Given the description of an element on the screen output the (x, y) to click on. 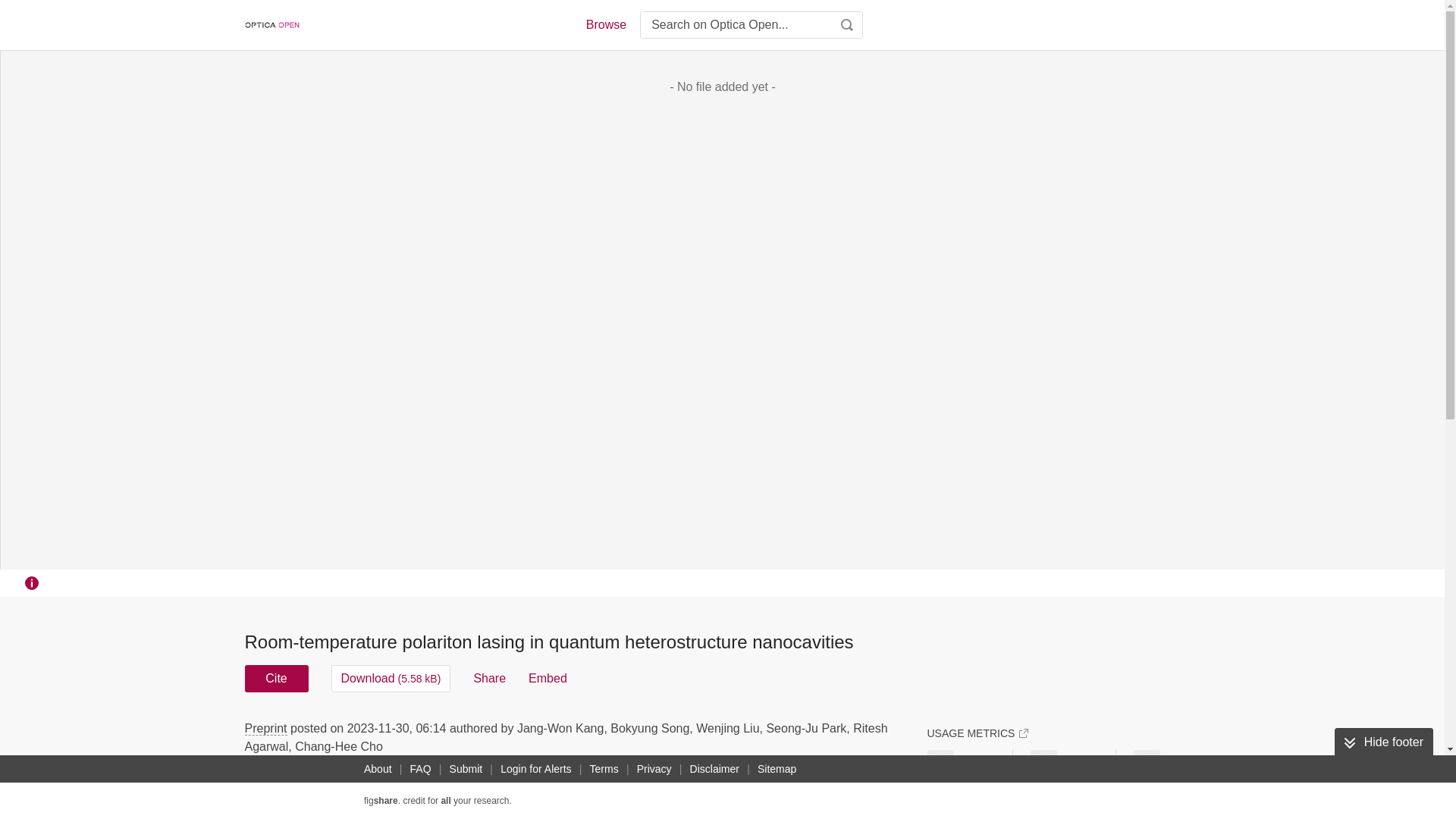
Login for Alerts (535, 769)
Sitemap (776, 769)
Hide footer (1383, 742)
Disclaimer (714, 769)
About (377, 769)
Embed (547, 678)
Cite (275, 678)
Browse (605, 24)
Terms (604, 769)
USAGE METRICS (976, 732)
